Given the description of an element on the screen output the (x, y) to click on. 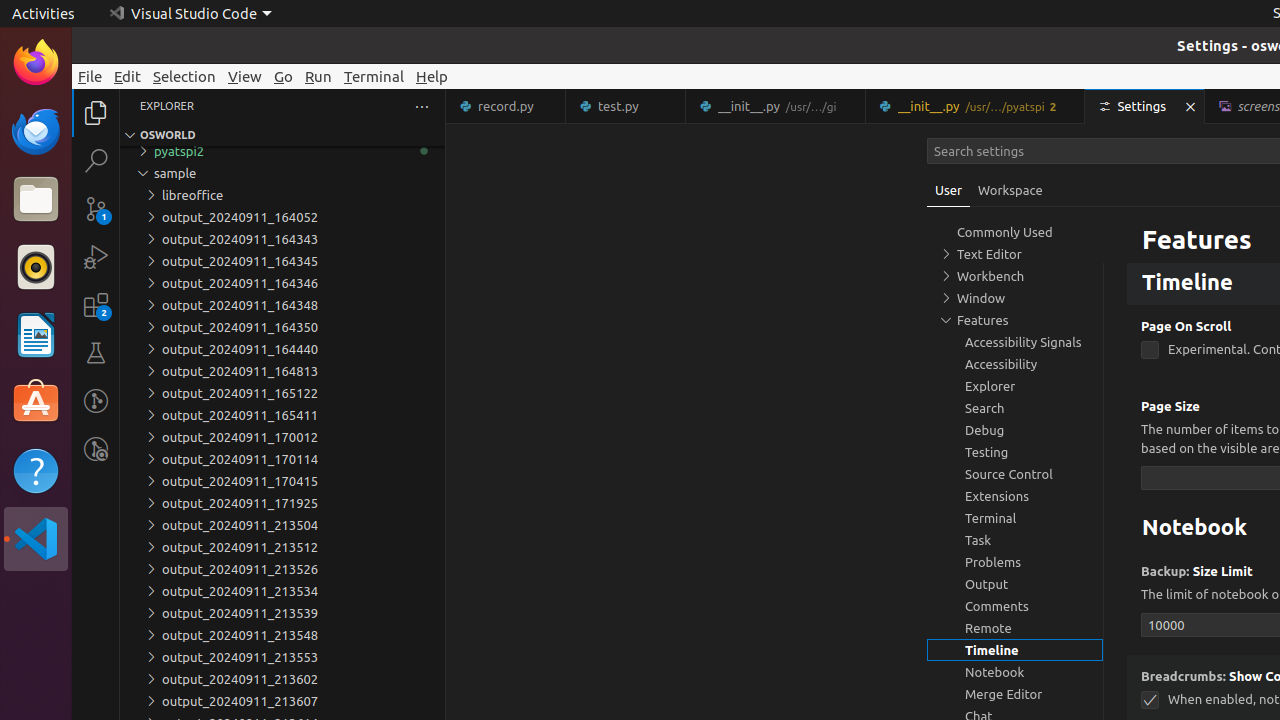
output_20240911_165122 Element type: tree-item (282, 393)
Firefox Web Browser Element type: push-button (36, 63)
Extensions (Ctrl+Shift+X) - 2 require restart Extensions (Ctrl+Shift+X) - 2 require restart Element type: page-tab (96, 305)
output_20240911_164052 Element type: tree-item (282, 217)
